Given the description of an element on the screen output the (x, y) to click on. 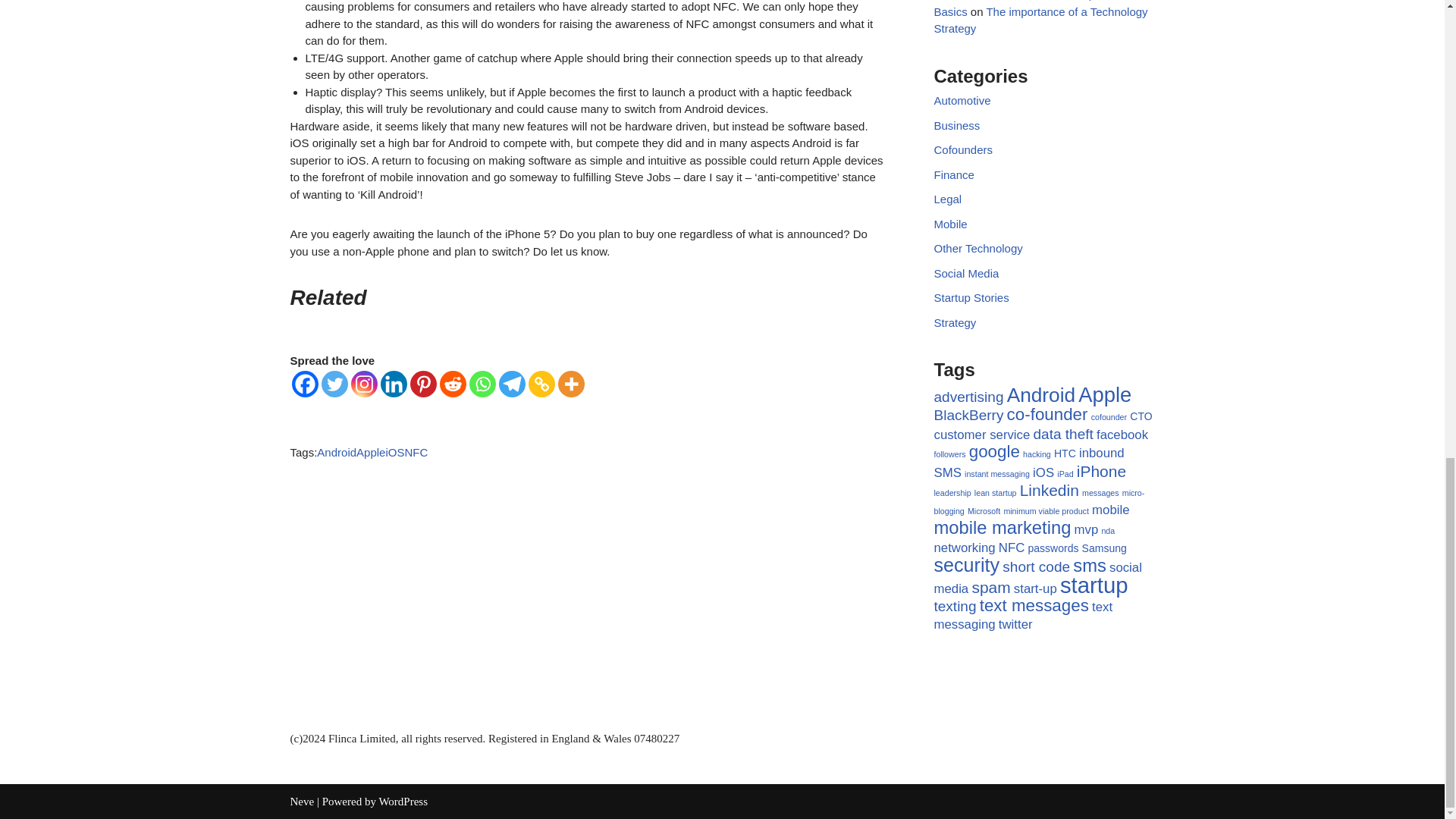
Android (336, 451)
Apple (370, 451)
iOS (394, 451)
NFC (416, 451)
